Given the description of an element on the screen output the (x, y) to click on. 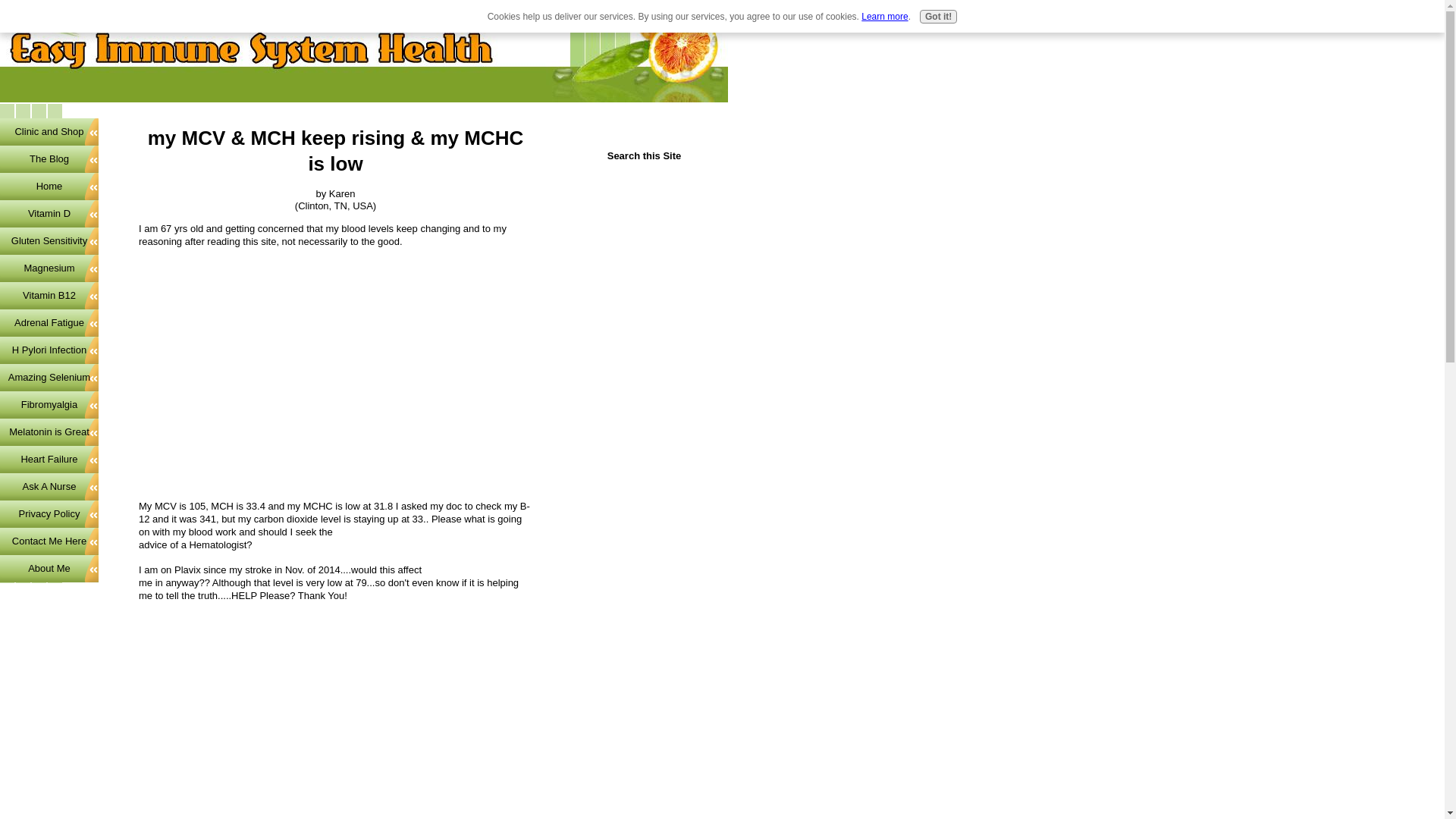
Gluten Sensitivity (49, 240)
Home (49, 185)
Learn more (884, 16)
Melatonin is Great (49, 431)
Vitamin D (49, 213)
Ask A Nurse (49, 486)
Adrenal Fatigue (49, 322)
H Pylori Infection (49, 349)
The Blog (49, 158)
Heart Failure (49, 459)
Clinic and Shop (49, 131)
Got it! (938, 16)
About Me (49, 568)
Fibromyalgia (49, 404)
Amazing Selenium (49, 377)
